Given the description of an element on the screen output the (x, y) to click on. 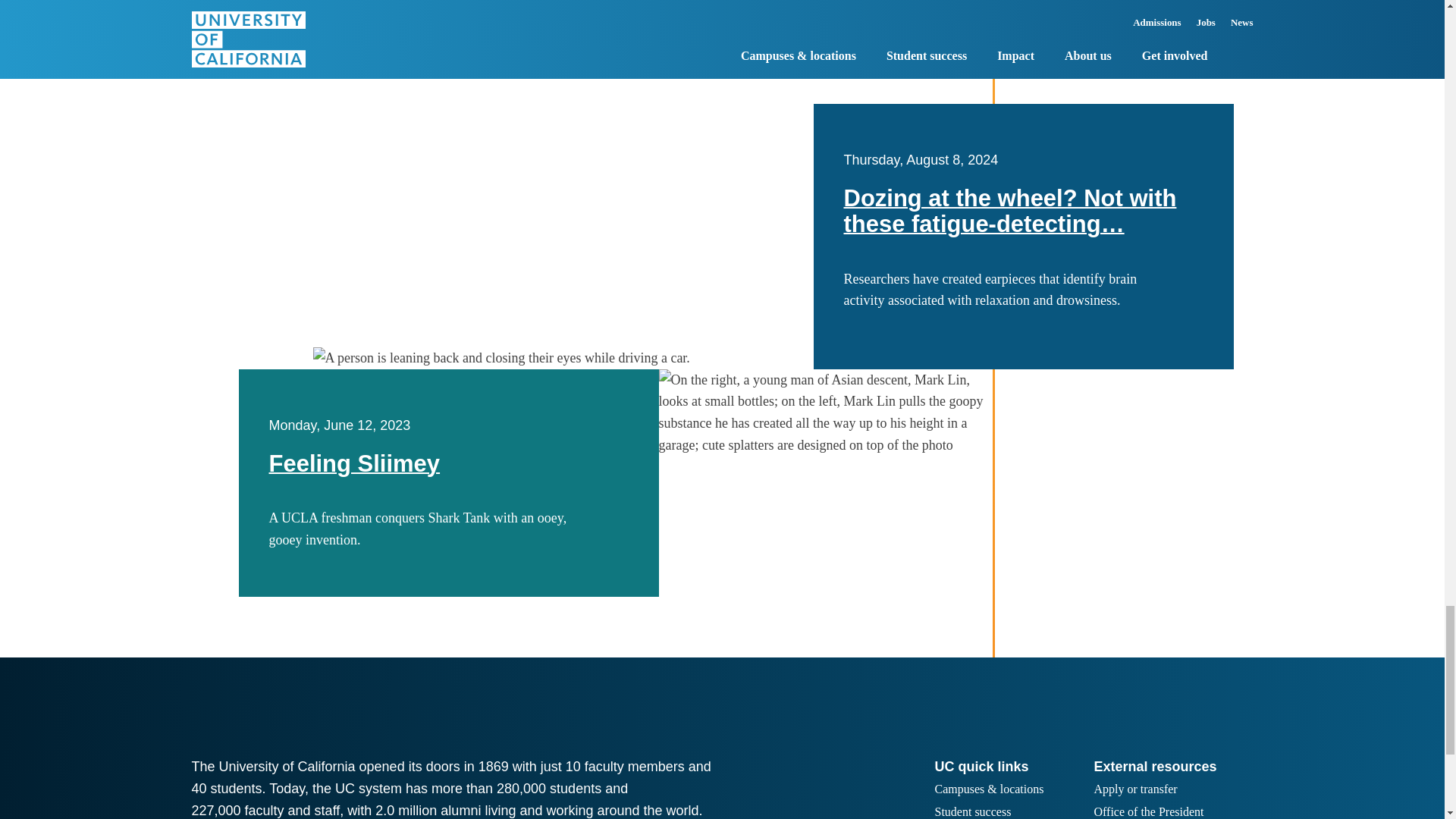
Office of the President (1148, 810)
Mark Lin demonstrating his product and how it's made (824, 412)
Falling asleep at the wheel (562, 358)
